Given the description of an element on the screen output the (x, y) to click on. 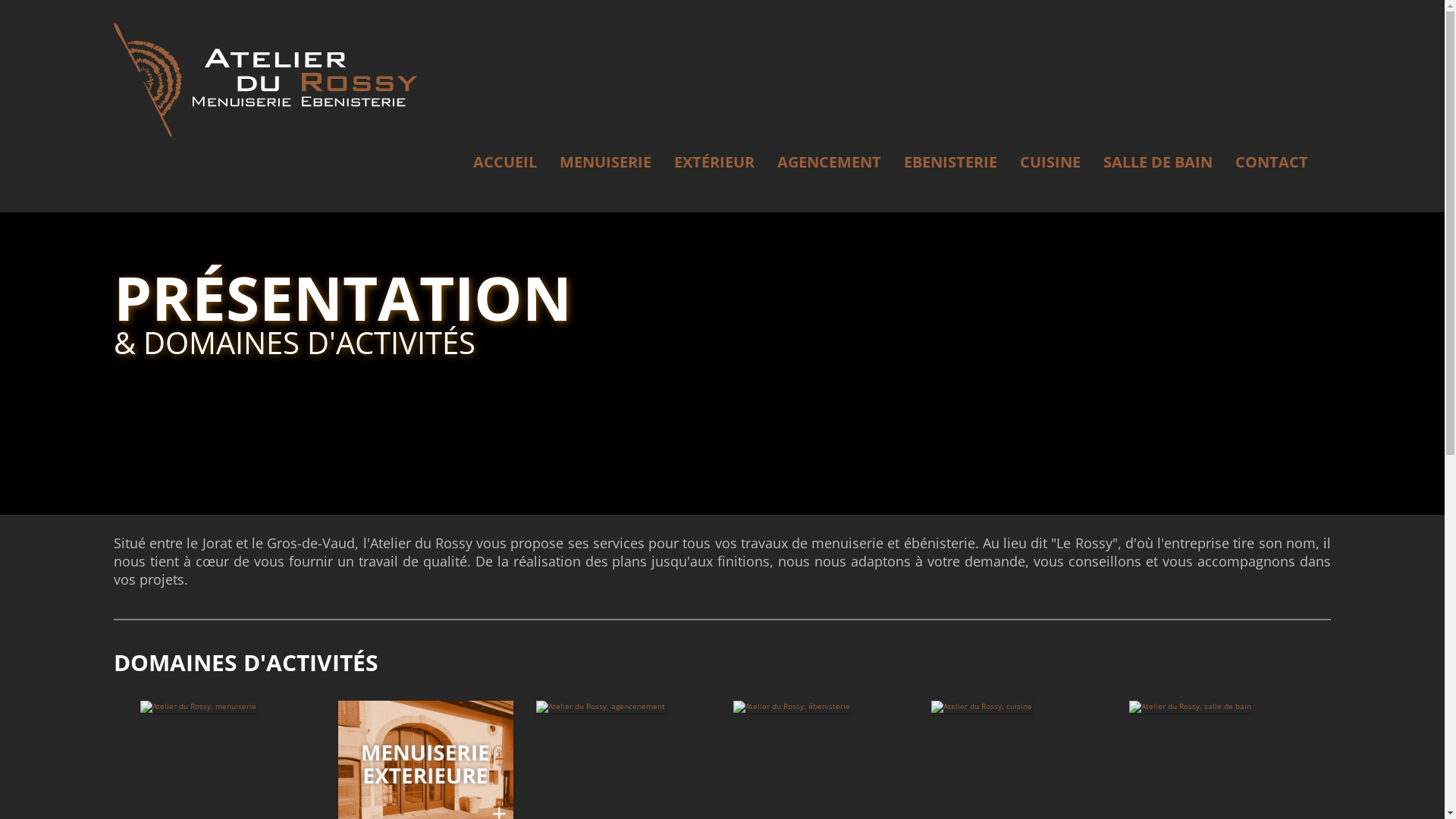
MENUISERIE Element type: text (605, 161)
ACCUEIL Element type: text (504, 161)
EBENISTERIE Element type: text (950, 161)
AGENCEMENT Element type: text (829, 161)
CUISINE Element type: text (1049, 161)
CONTACT Element type: text (1271, 161)
SALLE DE BAIN Element type: text (1157, 161)
